Given the description of an element on the screen output the (x, y) to click on. 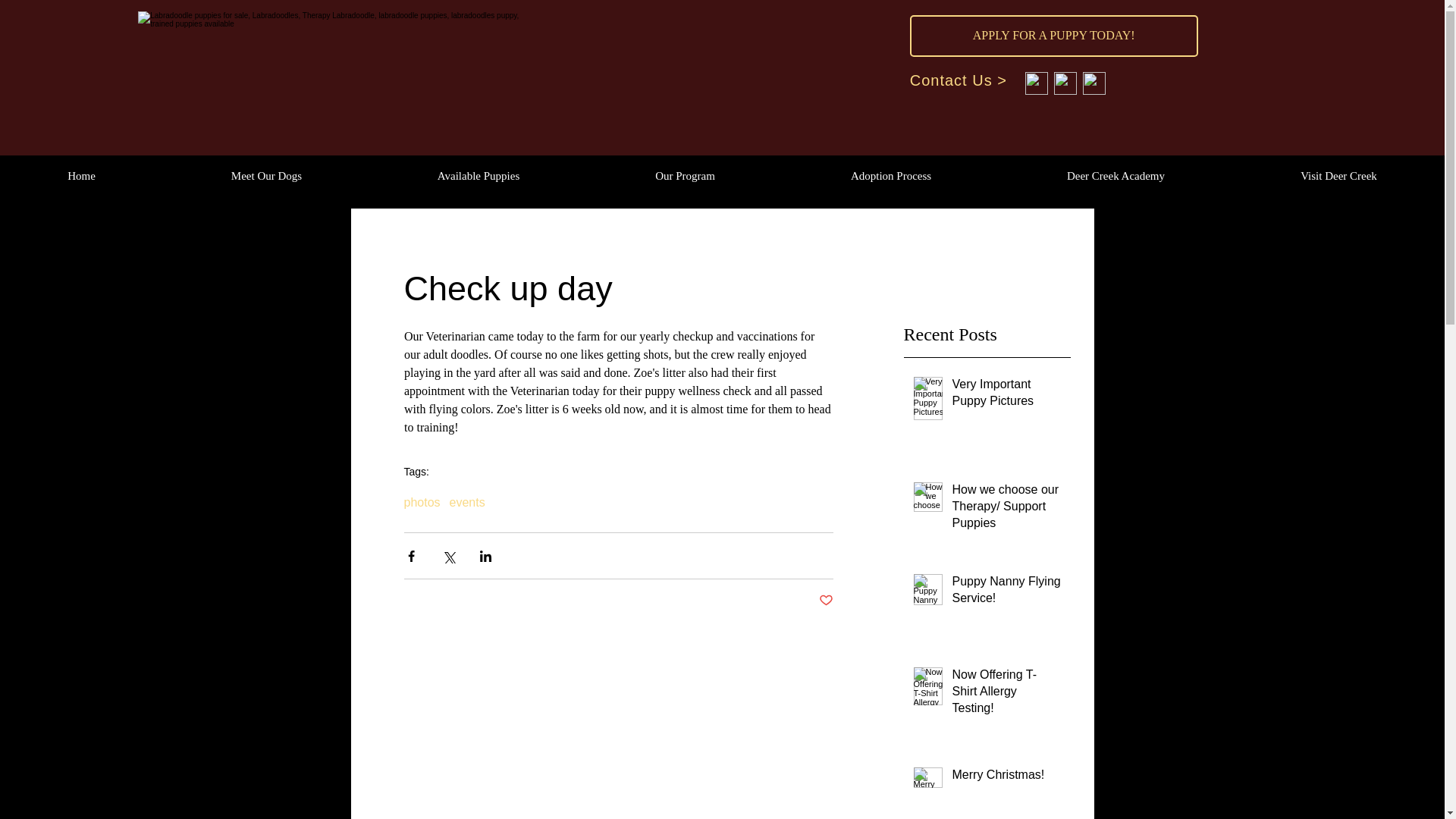
Our Program (684, 176)
Home (81, 176)
Meet Our Dogs (266, 176)
Available Puppies (477, 176)
APPLY FOR A PUPPY TODAY! (1054, 35)
Adoption Process (890, 176)
Labradoodle puppies (336, 62)
Deer Creek Academy (1114, 176)
